Given the description of an element on the screen output the (x, y) to click on. 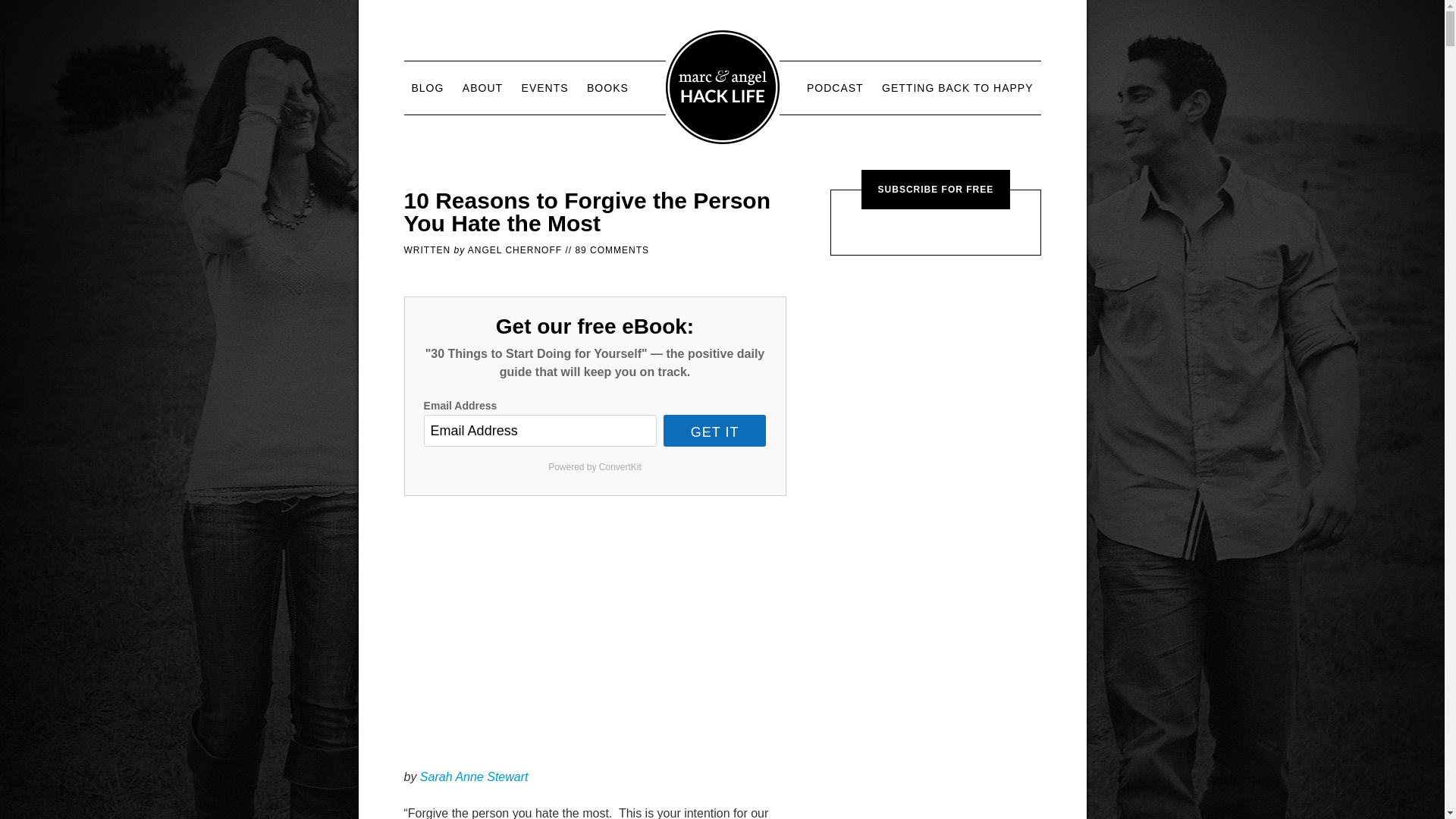
BOOKS (607, 87)
GET IT (715, 430)
PODCAST (834, 87)
Powered by ConvertKit (595, 466)
89 COMMENTS (612, 249)
EVENTS (544, 87)
ABOUT (482, 87)
BLOG (427, 87)
Sarah Anne Stewart (474, 776)
MARC AND ANGEL HACK LIFE (721, 87)
